Given the description of an element on the screen output the (x, y) to click on. 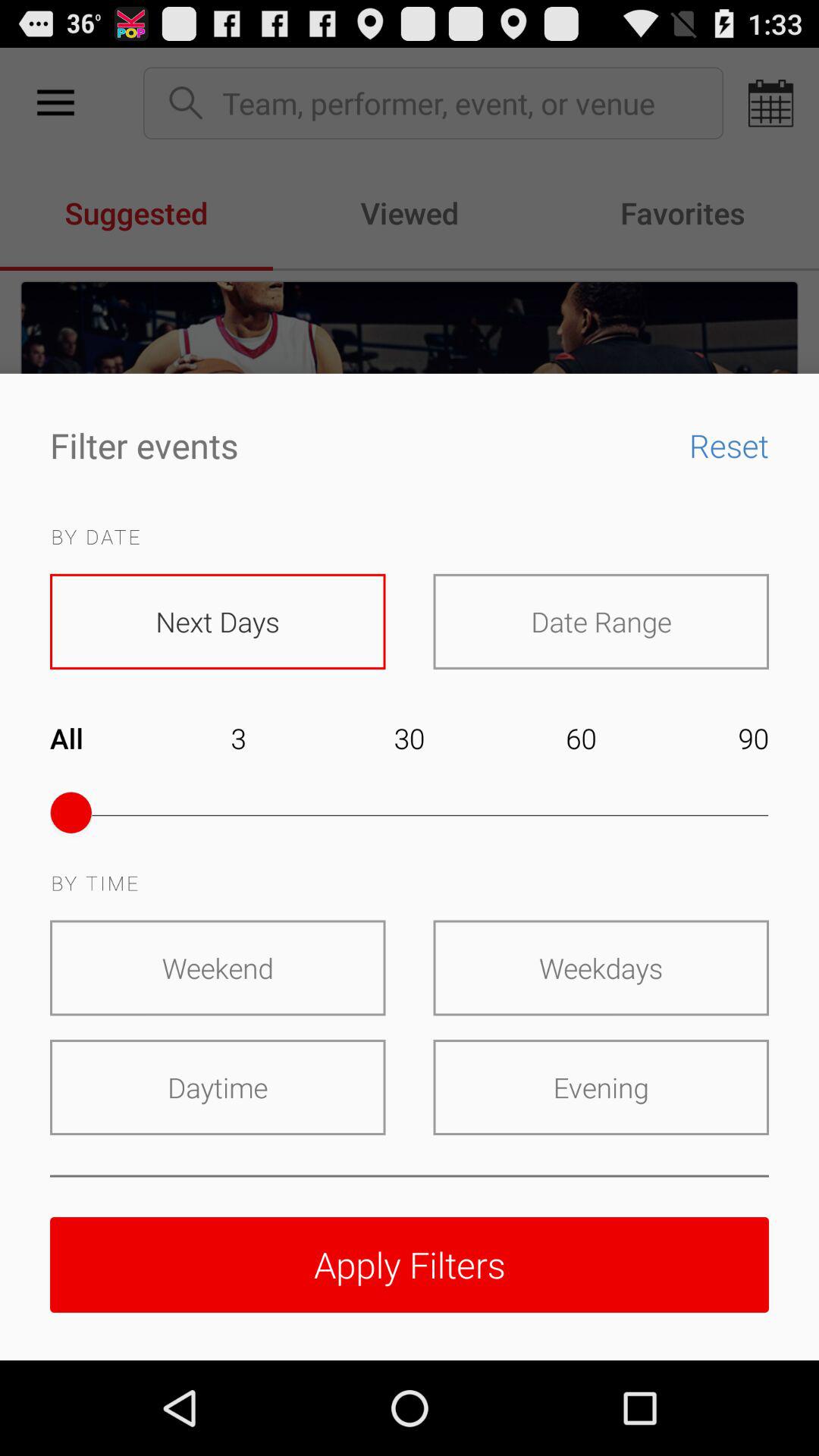
launch daytime at the bottom left corner (217, 1087)
